Given the description of an element on the screen output the (x, y) to click on. 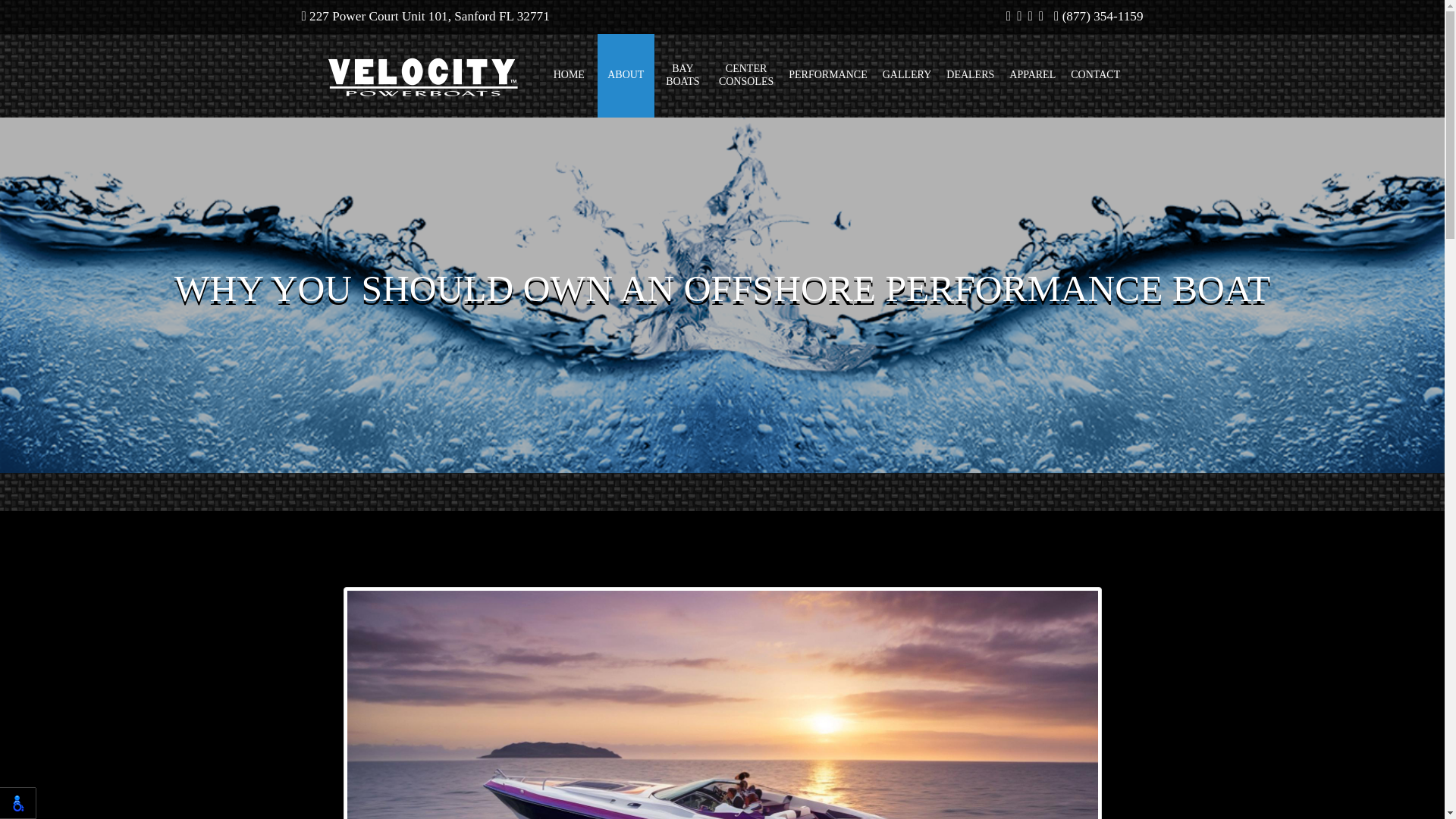
ABOUT (624, 75)
Center Consoles (745, 75)
Velocity Powerboat (423, 75)
DEALERS (970, 75)
HOME (568, 75)
CONTACT (1094, 75)
APPAREL (1031, 75)
Bay Boats (682, 75)
GALLERY (907, 75)
Home (568, 75)
About (624, 75)
BAY BOATS (682, 75)
PERFORMANCE (827, 75)
Performance (827, 75)
